Given the description of an element on the screen output the (x, y) to click on. 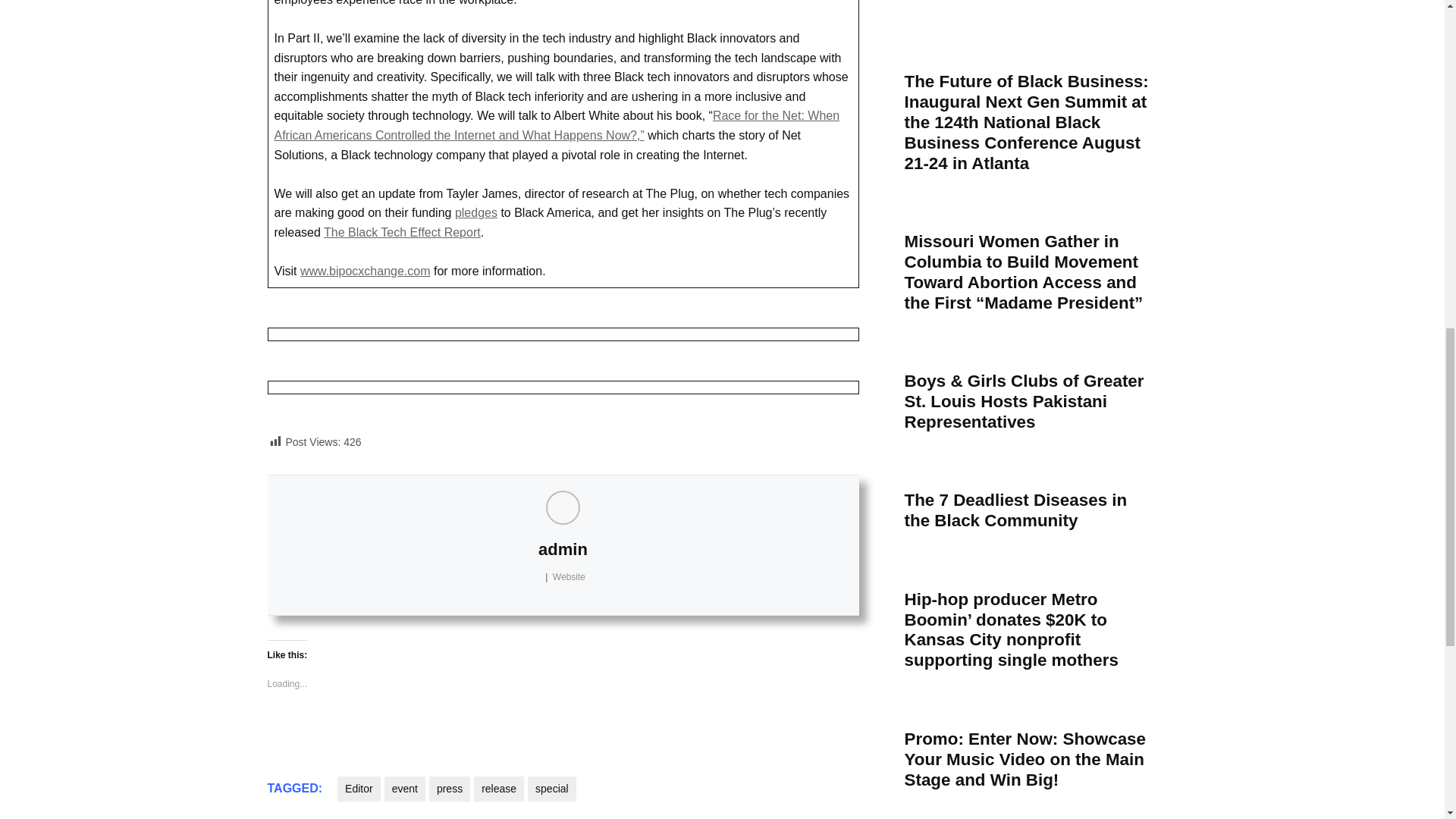
Website (569, 576)
www.bipocxchange.com (364, 270)
admin (563, 548)
The Black Tech Effect Report (401, 232)
pledges (475, 212)
